Given the description of an element on the screen output the (x, y) to click on. 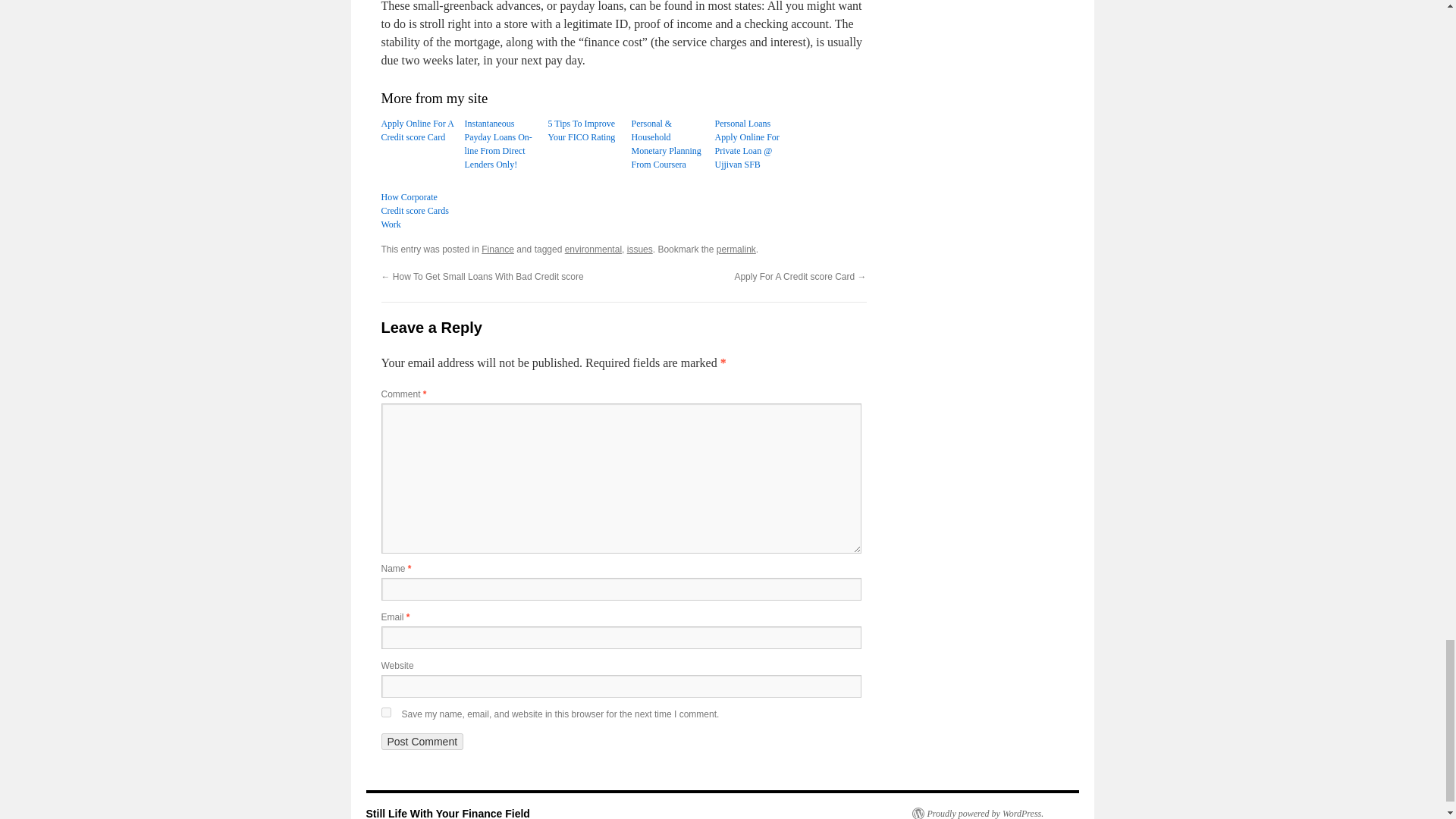
issues (639, 249)
yes (385, 712)
permalink (735, 249)
Permalink to Environmental Issues (735, 249)
Post Comment (421, 741)
Apply Online For A Credit score Card (418, 130)
Instantaneous Payday Loans On-line From Direct Lenders Only! (502, 144)
environmental (592, 249)
Post Comment (421, 741)
5 Tips To Improve Your FICO Rating (585, 130)
Finance (497, 249)
How Corporate Credit score Cards Work (418, 210)
